Given the description of an element on the screen output the (x, y) to click on. 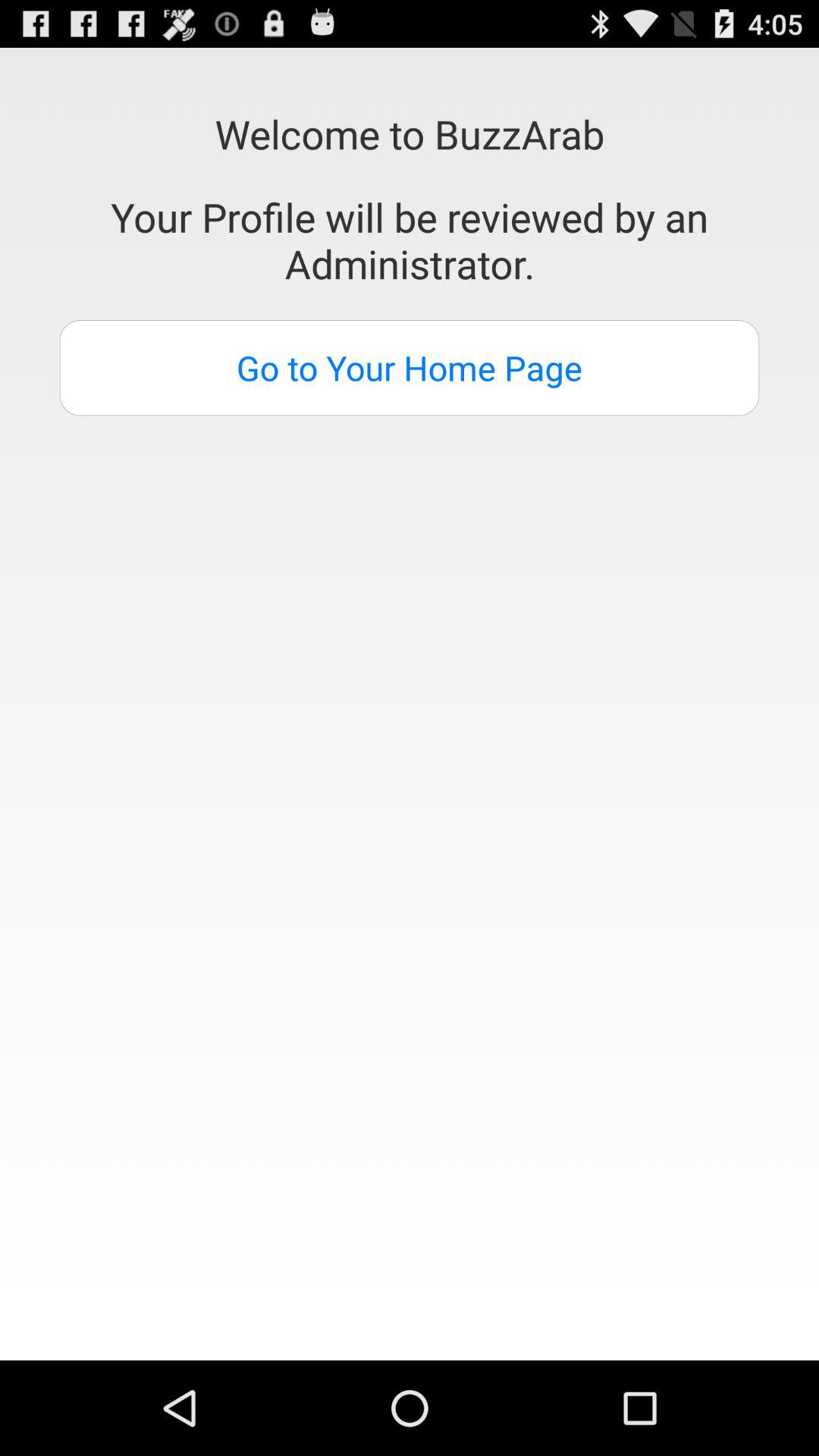
press app below the your profile will app (409, 367)
